Given the description of an element on the screen output the (x, y) to click on. 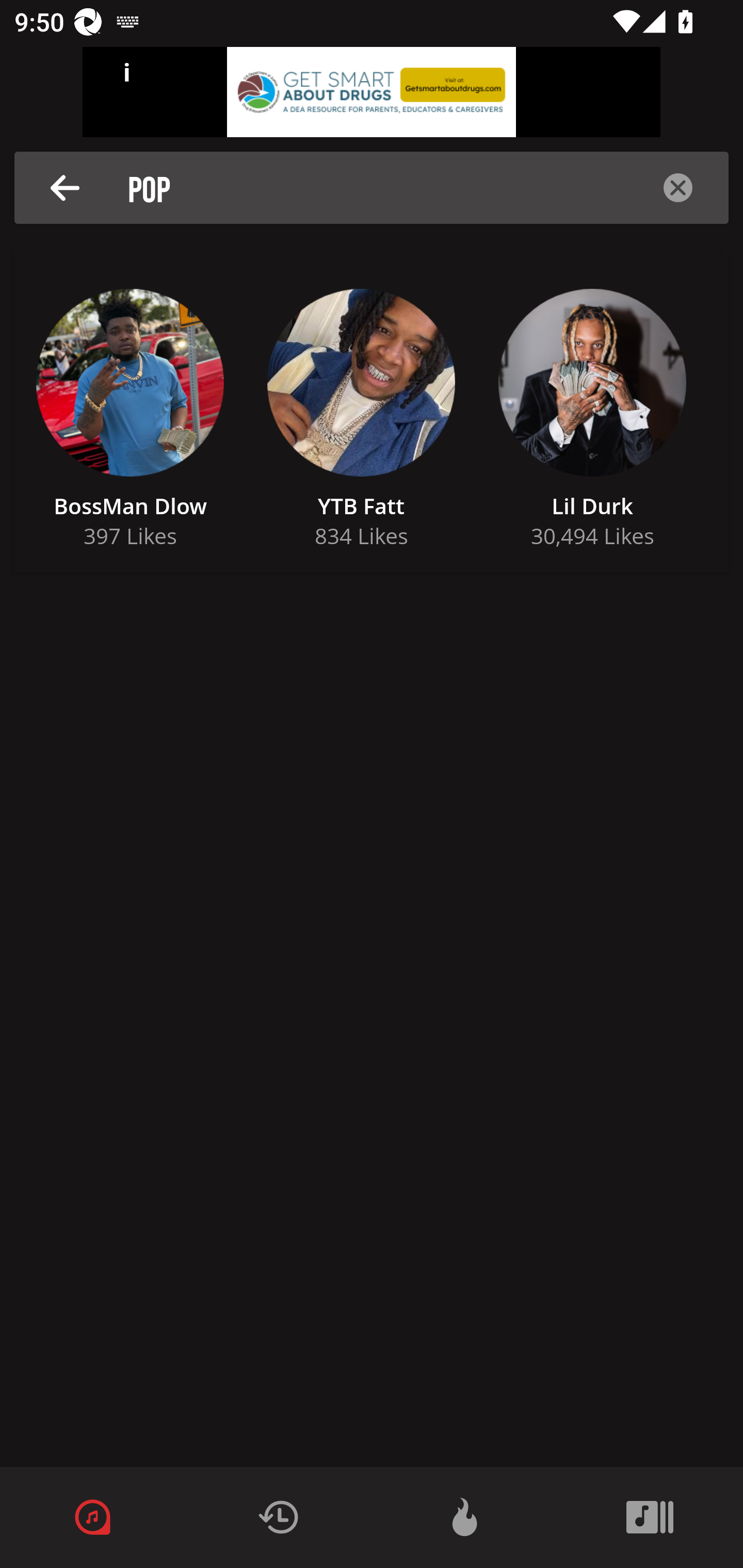
Pop (377, 188)
Description (64, 188)
Description (677, 188)
Description BossMan Dlow 397 Likes (129, 413)
Description YTB Fatt 834 Likes (360, 413)
Description Lil Durk 30,494 Likes (591, 413)
